Given the description of an element on the screen output the (x, y) to click on. 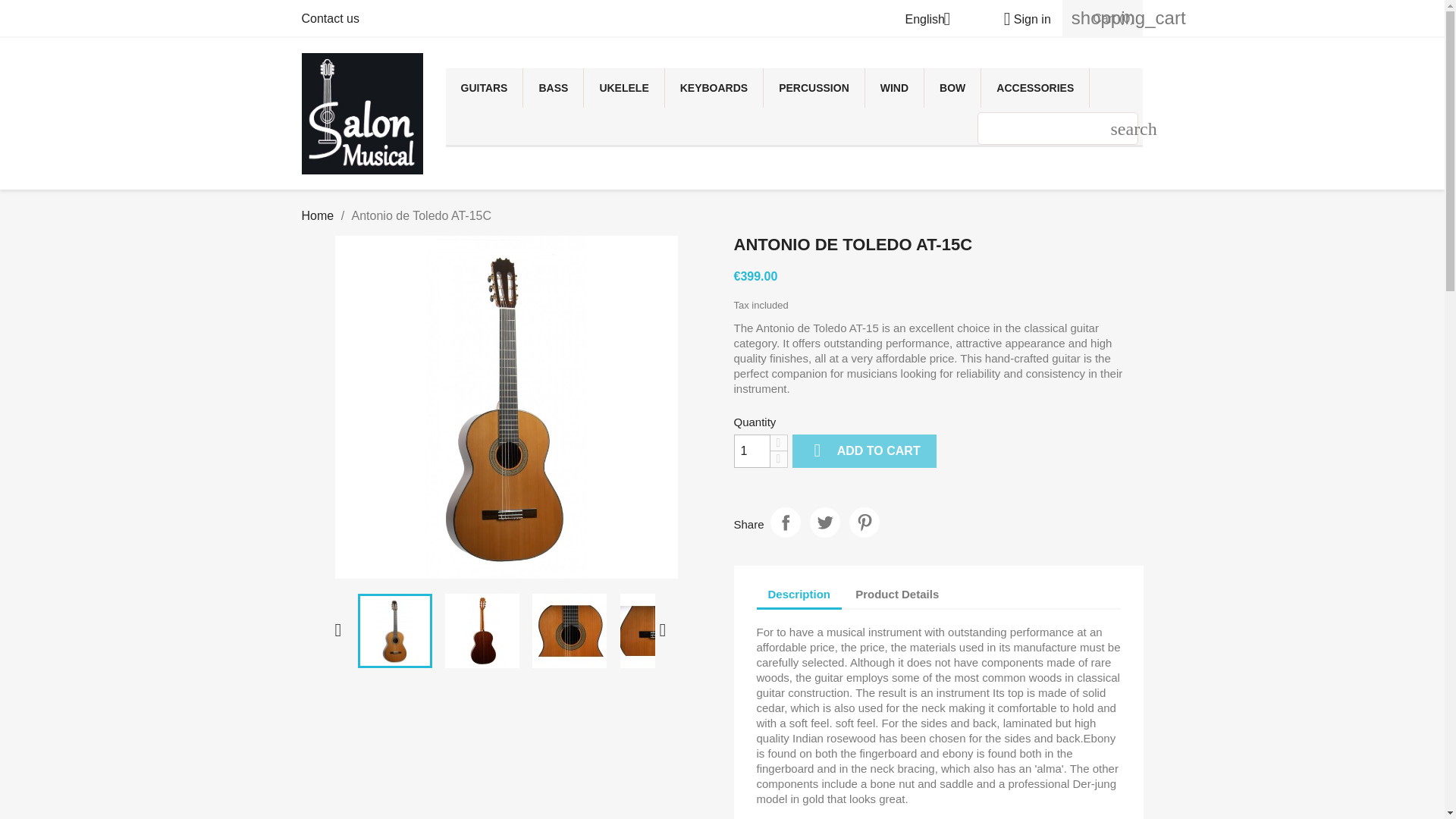
Tweet (824, 521)
Description (800, 594)
KEYBOARDS (713, 87)
ACCESSORIES (1035, 87)
BASS (552, 87)
Pinterest (863, 521)
Bass (552, 87)
Product Details (897, 593)
Share (785, 521)
PERCUSSION (813, 87)
